Given the description of an element on the screen output the (x, y) to click on. 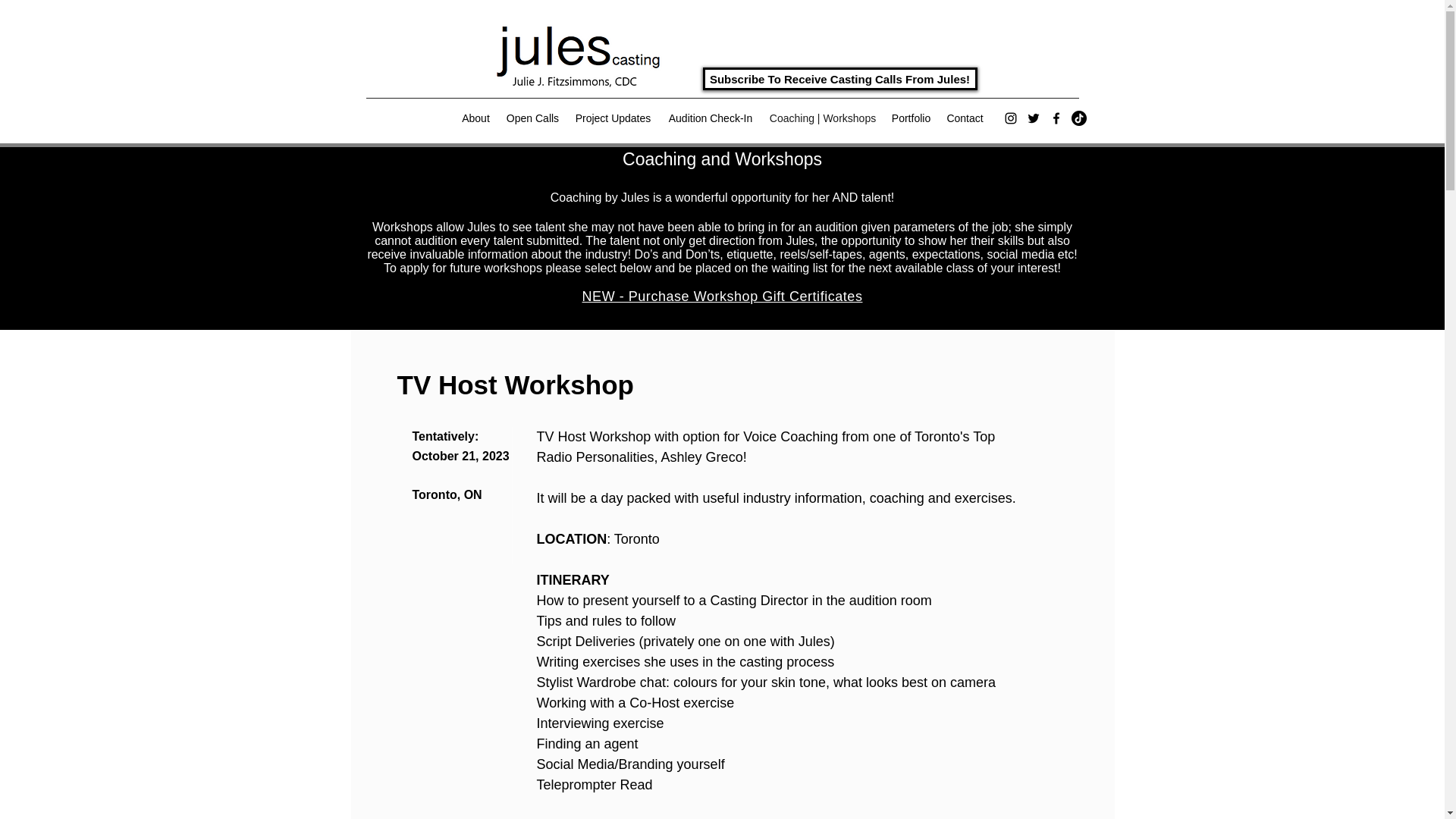
logo for website larger.png (572, 53)
Contact (965, 118)
Subscribe To Receive Casting Calls From Jules! (838, 78)
Portfolio (911, 118)
NEW - Purchase Workshop Gift Certificates (722, 296)
Open Calls (533, 118)
Audition Check-In (710, 118)
Project Updates (613, 118)
About (475, 118)
